Given the description of an element on the screen output the (x, y) to click on. 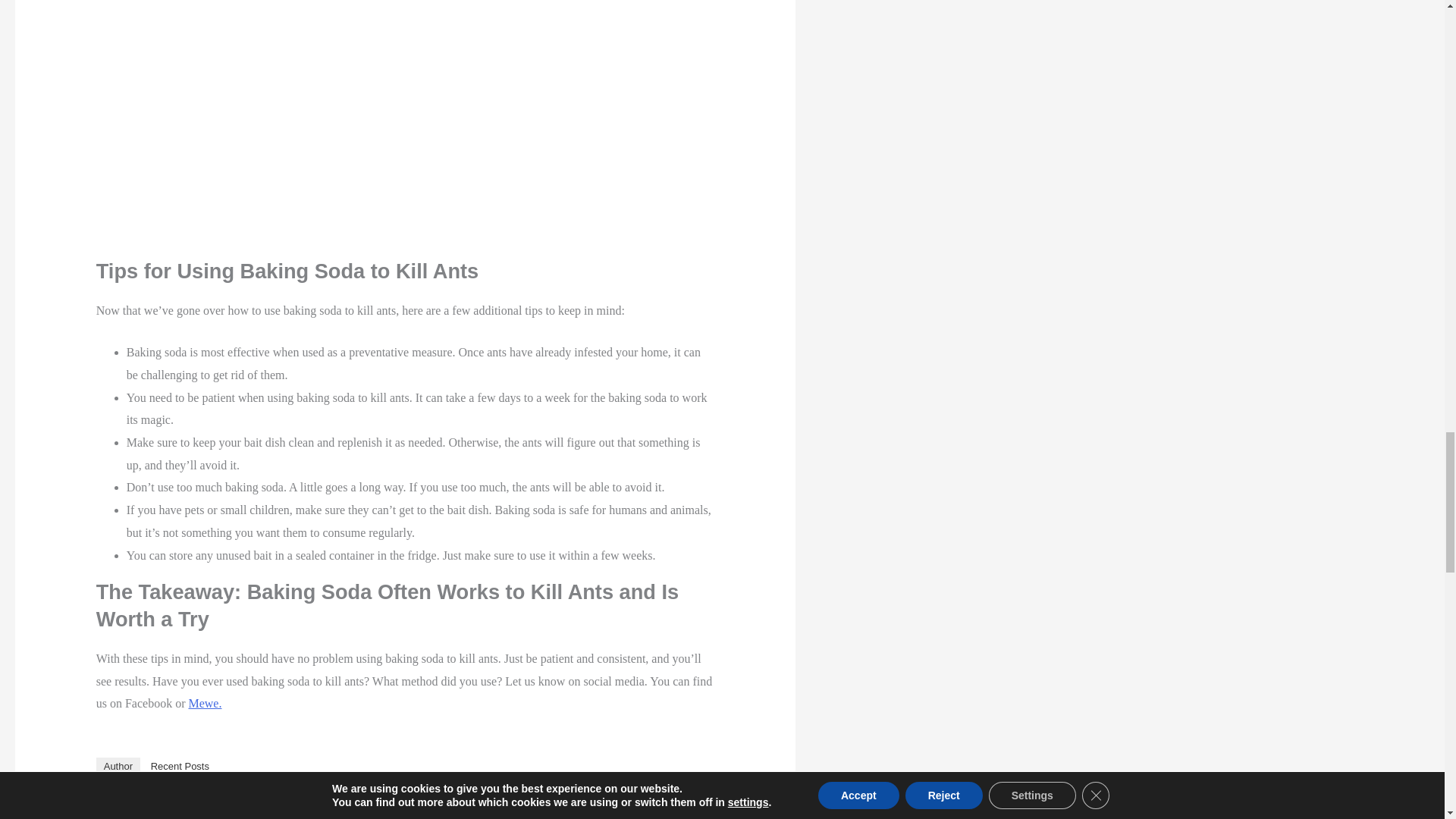
Maureen (198, 799)
Recent Posts (179, 766)
Author (117, 766)
Mewe. (204, 703)
Maureen (134, 815)
